Given the description of an element on the screen output the (x, y) to click on. 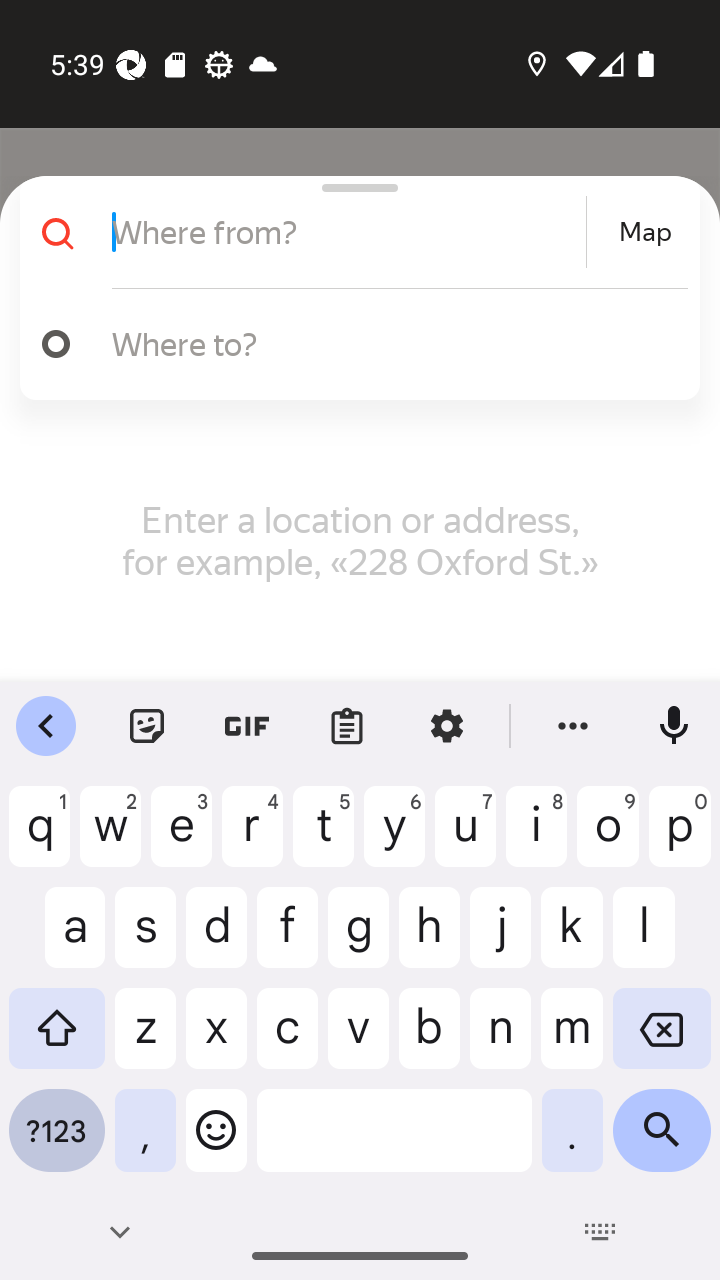
Where from? Map Map (352, 232)
Map (645, 232)
Where from? (346, 232)
Where to? (352, 343)
Where to? (390, 343)
